Given the description of an element on the screen output the (x, y) to click on. 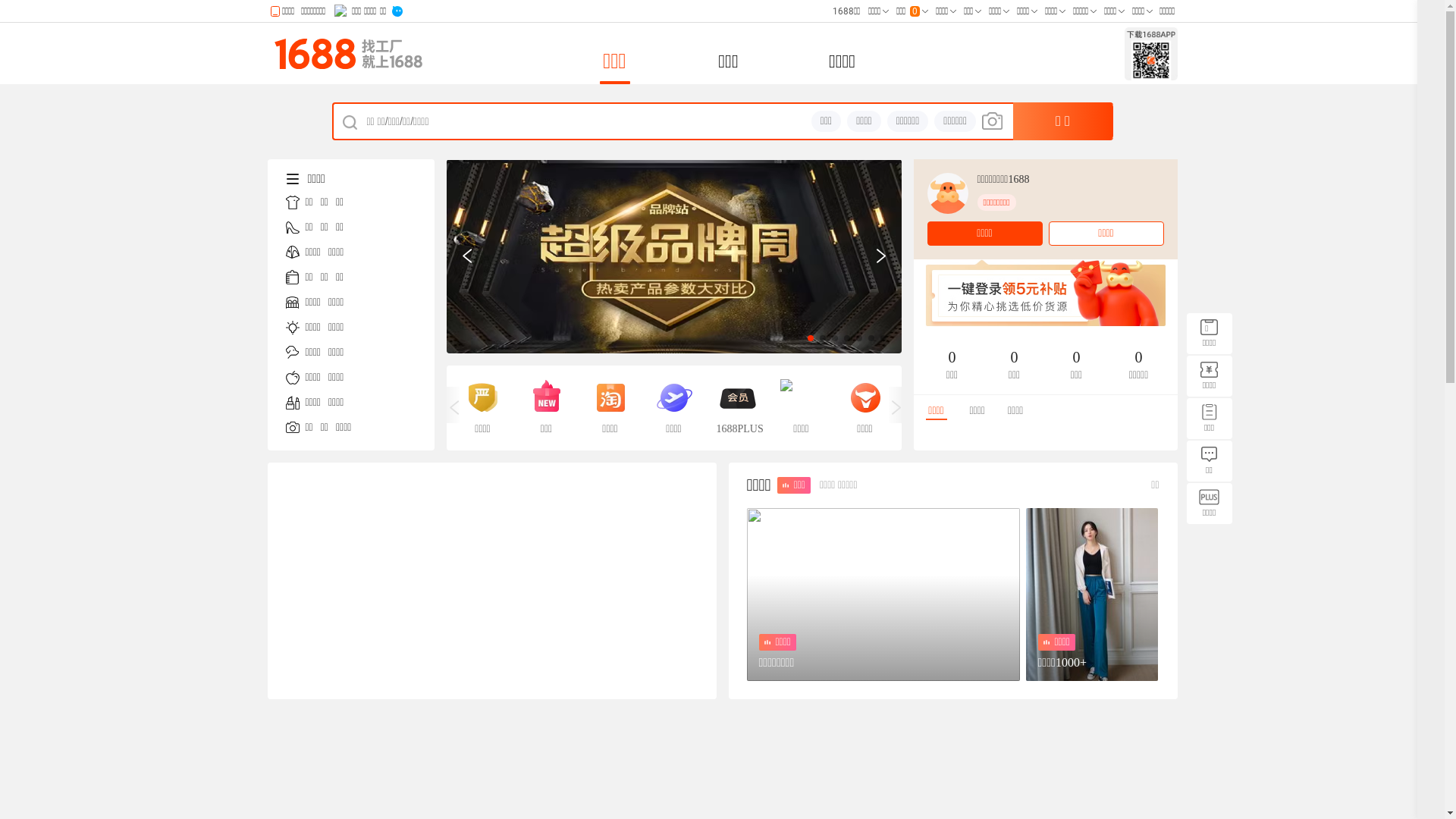
1688PLUS Element type: text (736, 407)
